Given the description of an element on the screen output the (x, y) to click on. 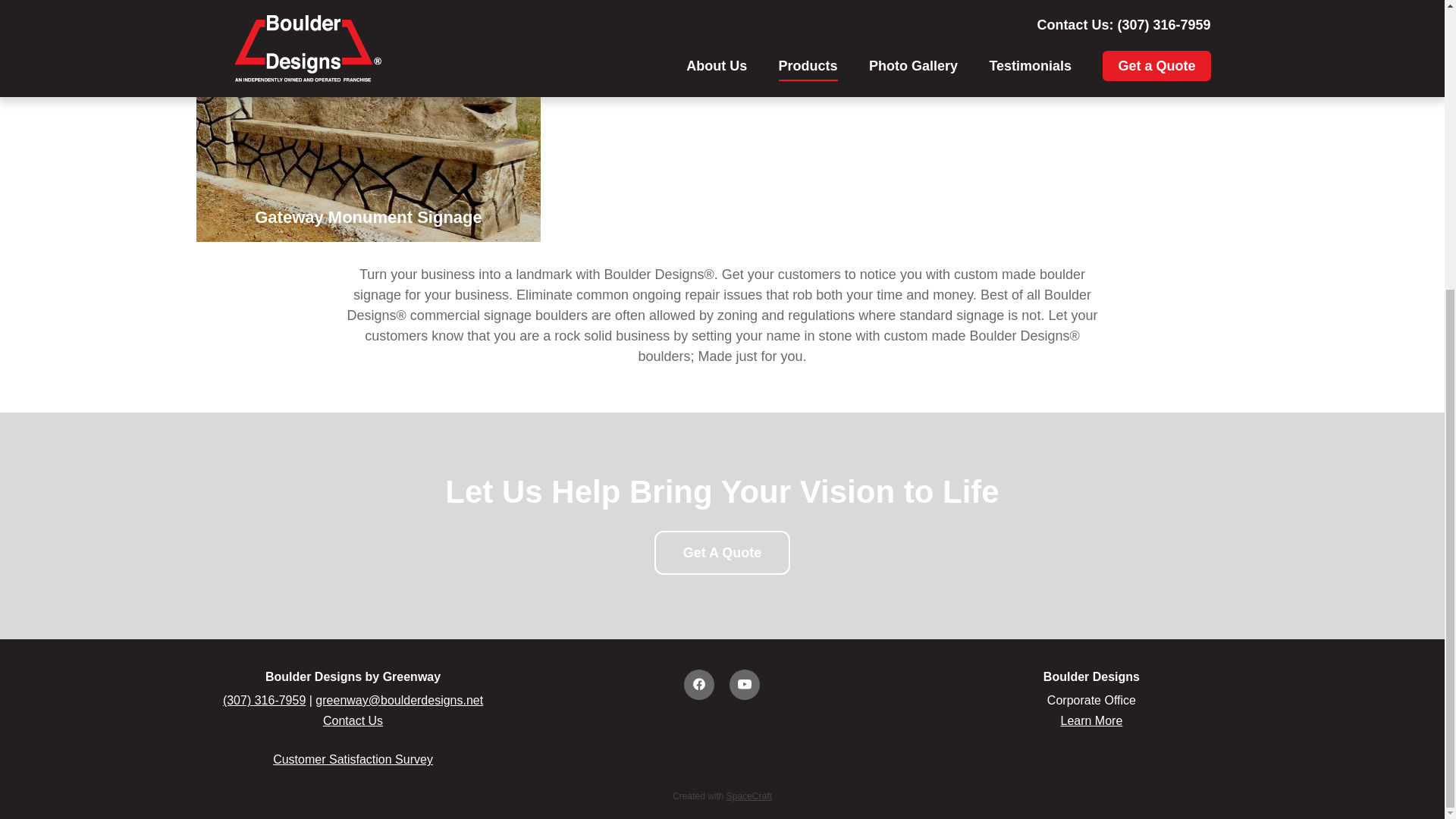
Contact Us (352, 720)
Learn More (1090, 720)
Get A Quote (721, 552)
Created with SpaceCraft (721, 796)
Customer Satisfaction Survey (352, 758)
